Given the description of an element on the screen output the (x, y) to click on. 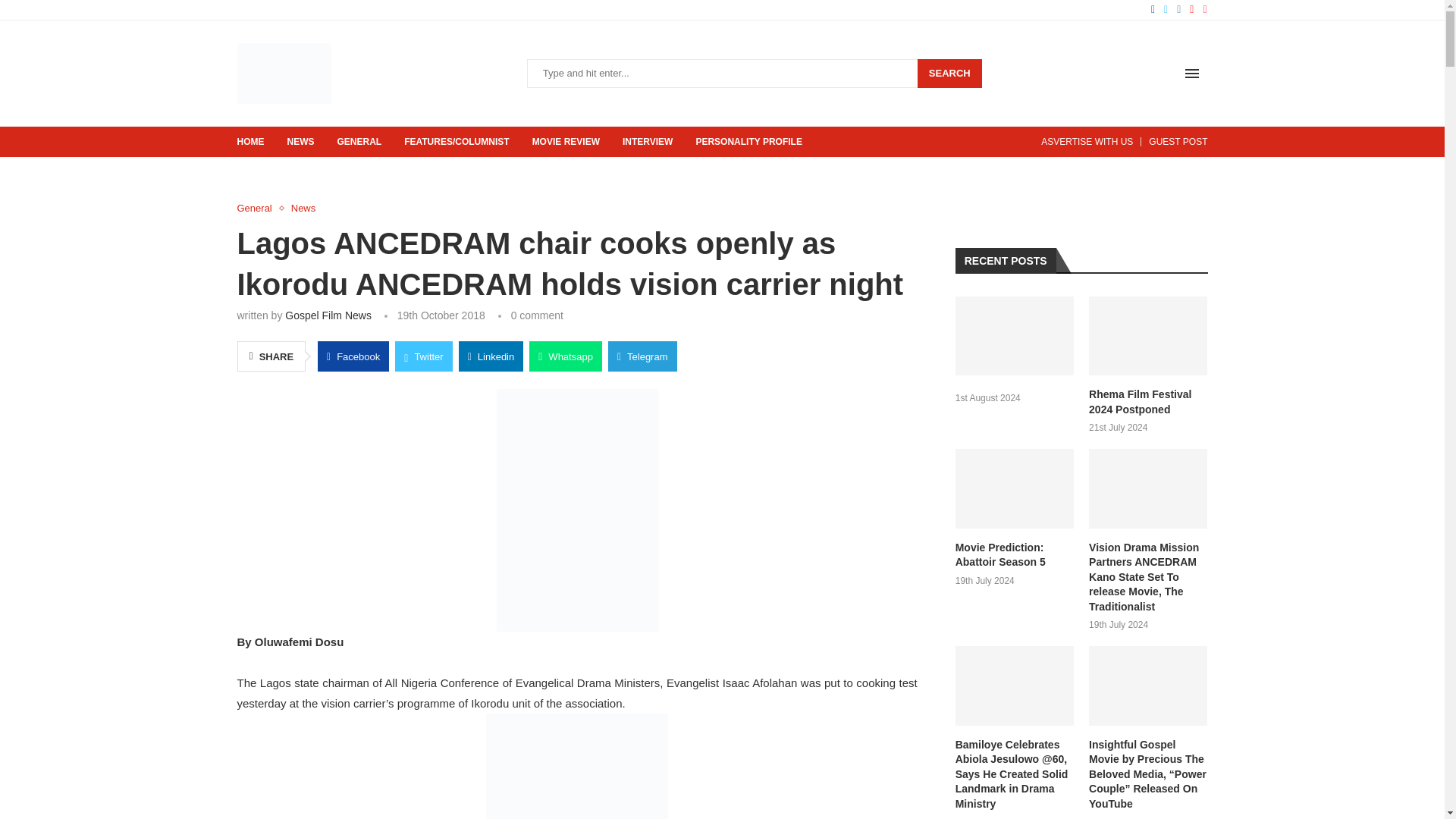
HOME (249, 141)
Gospel Film News (328, 315)
General (257, 208)
SEARCH (949, 72)
Rhema Film Festival 2024 Postponed (1148, 335)
NEWS (300, 141)
GUEST POST (1177, 141)
News (303, 208)
ASVERTISE WITH US (1086, 141)
PERSONALITY PROFILE (748, 141)
Rhema Film Festival 2024 Postponed (1148, 401)
GENERAL (358, 141)
MOVIE REVIEW (565, 141)
INTERVIEW (647, 141)
